Given the description of an element on the screen output the (x, y) to click on. 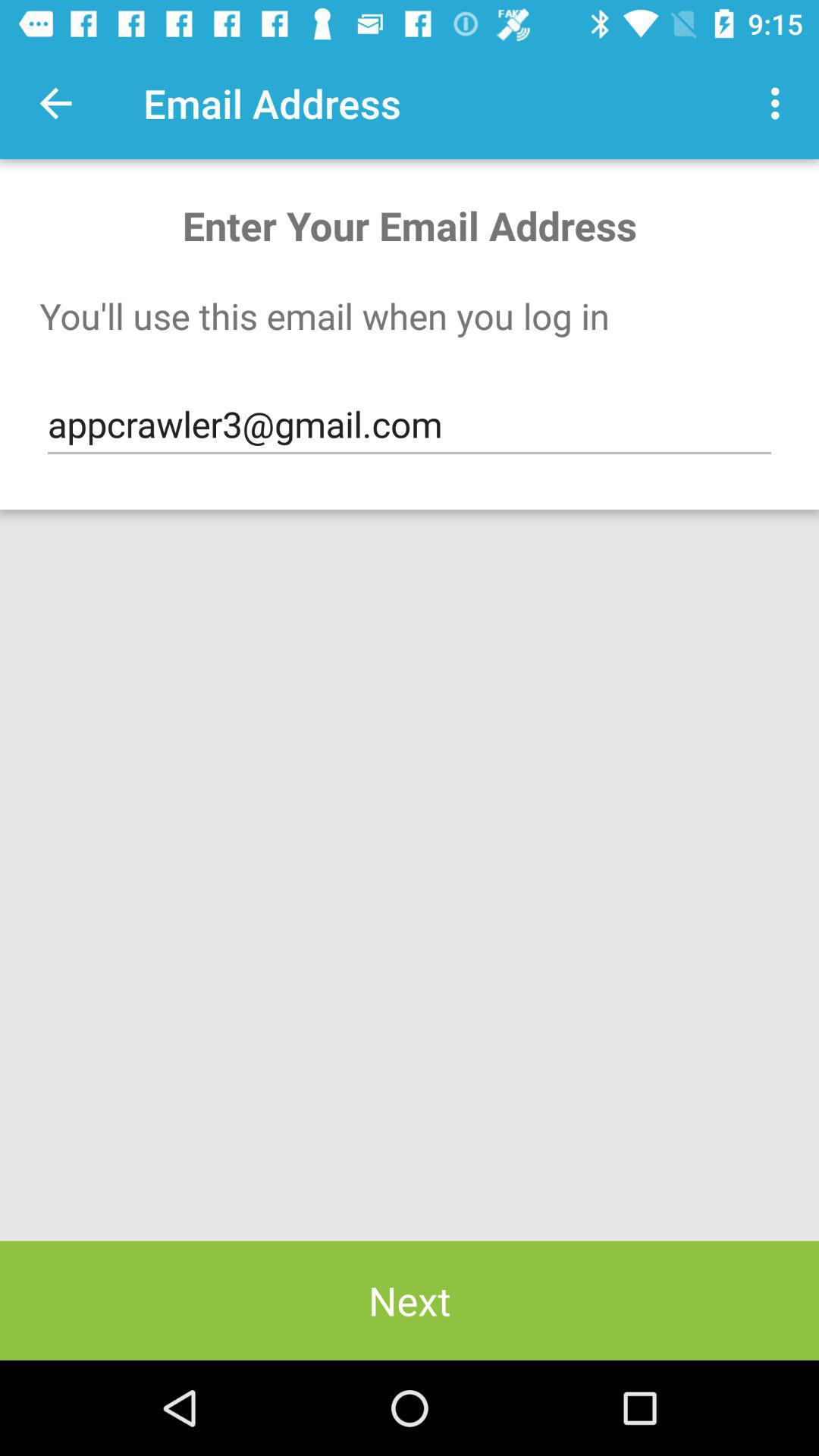
press item below you ll use item (409, 424)
